Given the description of an element on the screen output the (x, y) to click on. 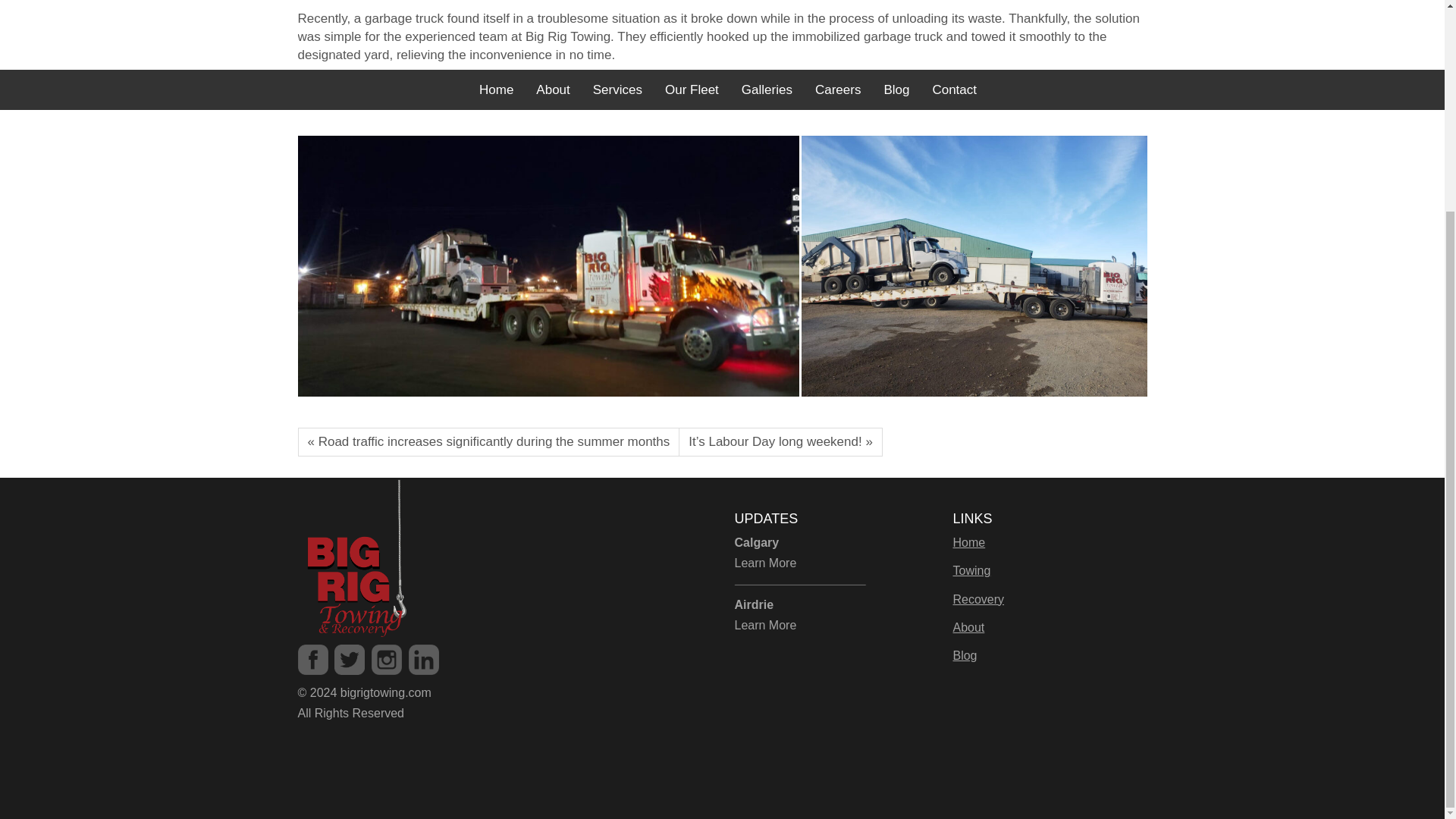
Towing (971, 570)
Recovery (978, 599)
About (968, 626)
Blog (964, 655)
Home (968, 542)
